Given the description of an element on the screen output the (x, y) to click on. 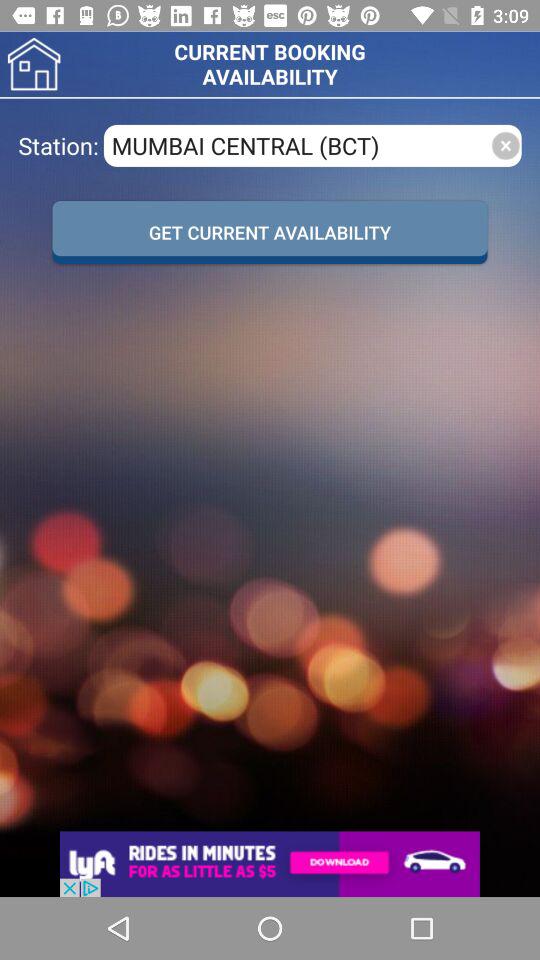
open advertisement page (270, 864)
